Given the description of an element on the screen output the (x, y) to click on. 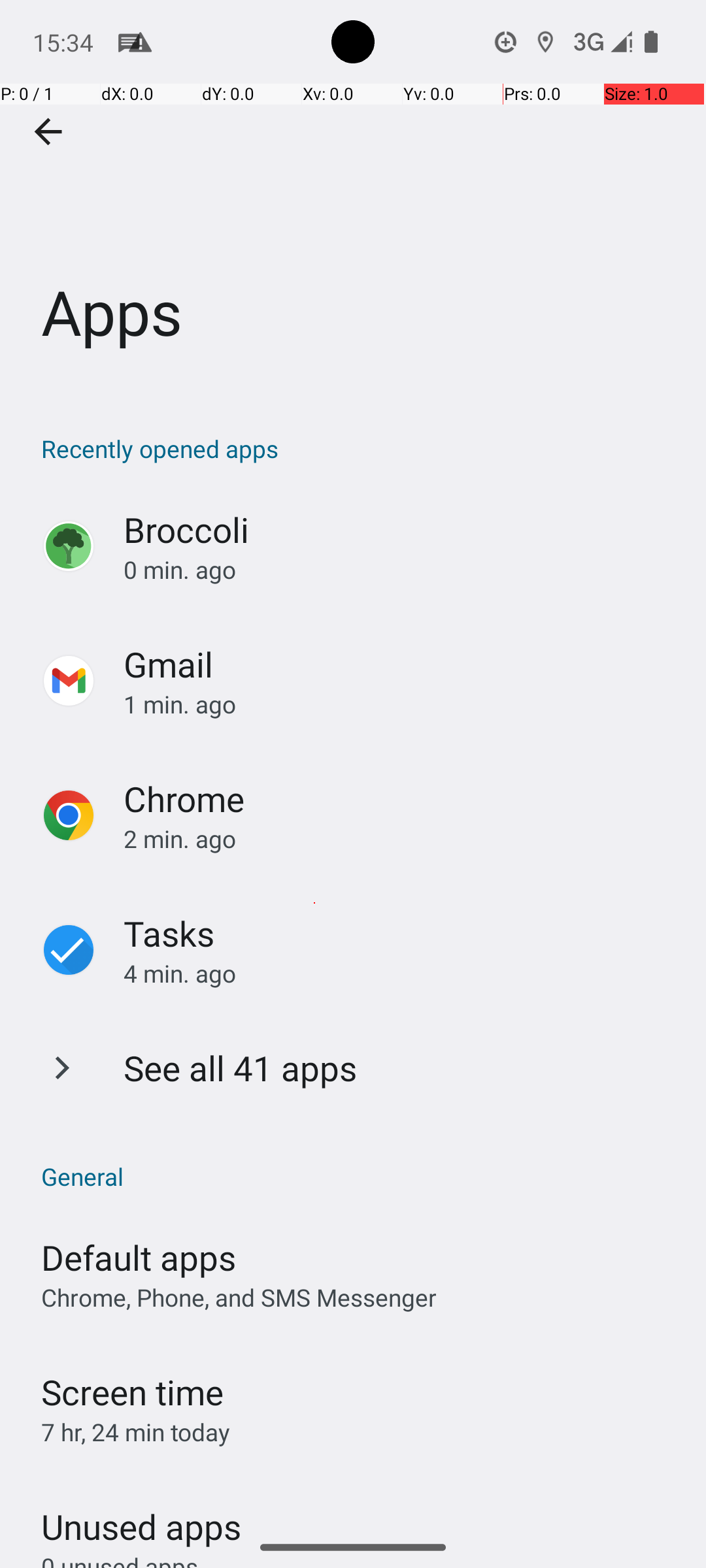
Recently opened apps Element type: android.widget.TextView (359, 448)
0 min. ago Element type: android.widget.TextView (400, 569)
1 min. ago Element type: android.widget.TextView (400, 703)
2 min. ago Element type: android.widget.TextView (400, 838)
4 min. ago Element type: android.widget.TextView (400, 972)
See all 41 apps Element type: android.widget.TextView (239, 1067)
Default apps Element type: android.widget.TextView (138, 1257)
Chrome, Phone, and SMS Messenger Element type: android.widget.TextView (238, 1296)
7 hr, 24 min today Element type: android.widget.TextView (135, 1431)
Unused apps Element type: android.widget.TextView (141, 1514)
